Given the description of an element on the screen output the (x, y) to click on. 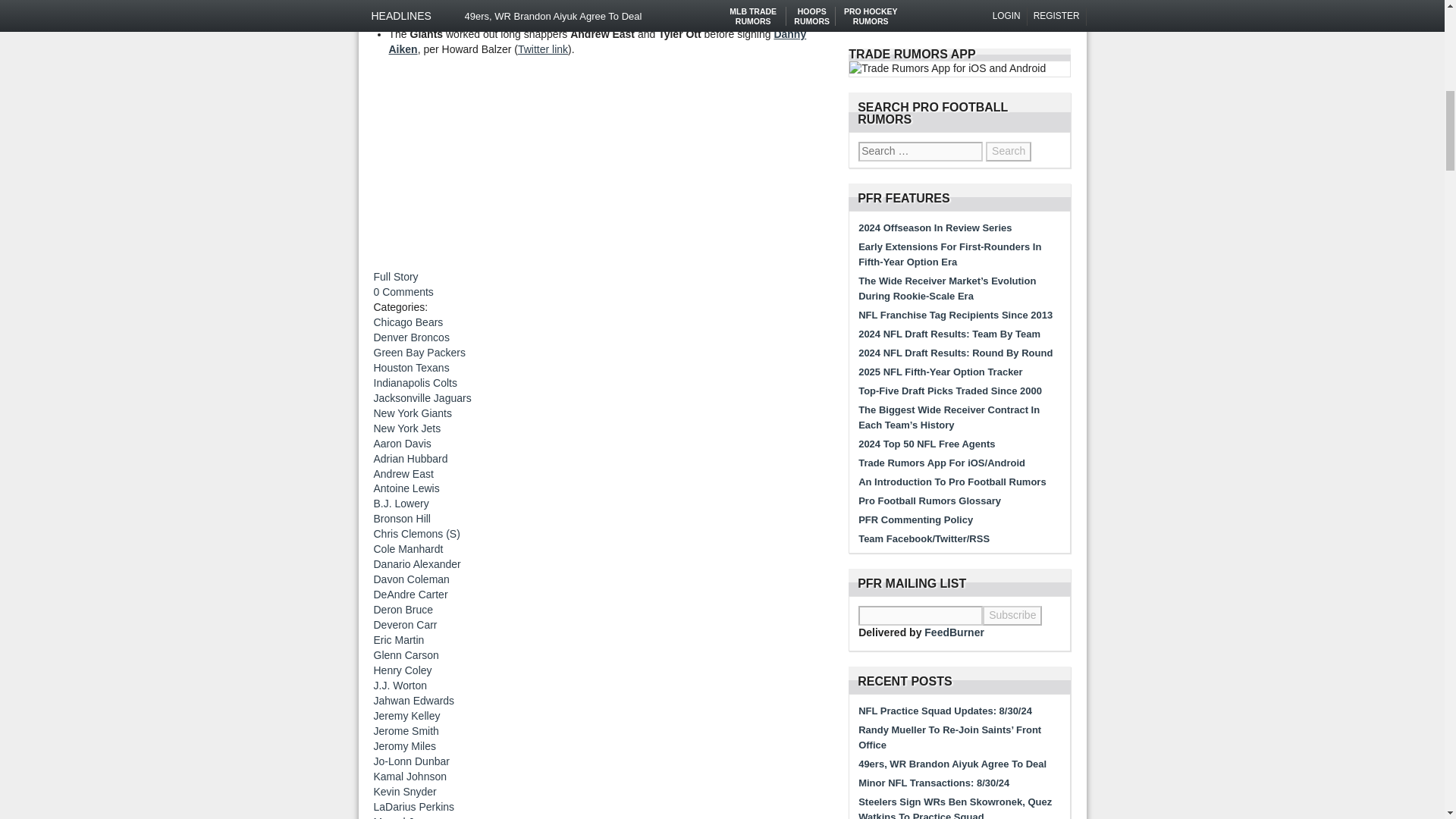
View all posts in Chicago Bears (407, 322)
View all posts in Andrew East (402, 472)
View all posts in Green Bay Packers (418, 352)
View all posts in Antoine Lewis (405, 488)
View all posts in Houston Texans (410, 367)
View all posts in Indianapolis Colts (414, 382)
View all posts in Denver Broncos (410, 337)
View all posts in New York Jets (406, 428)
View all posts in Aaron Davis (401, 443)
View all posts in Bronson Hill (400, 518)
